Given the description of an element on the screen output the (x, y) to click on. 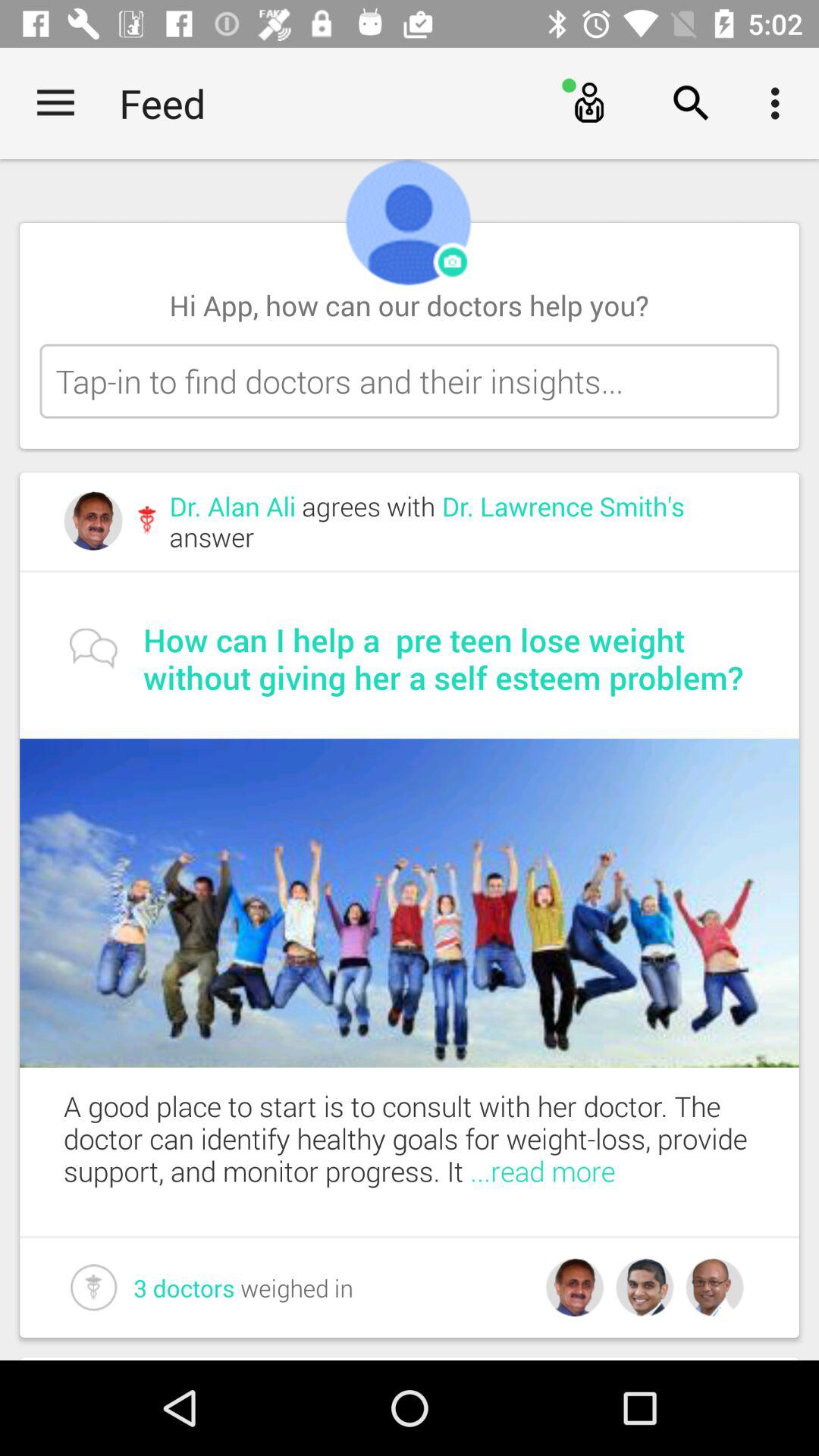
add photo (453, 262)
